Given the description of an element on the screen output the (x, y) to click on. 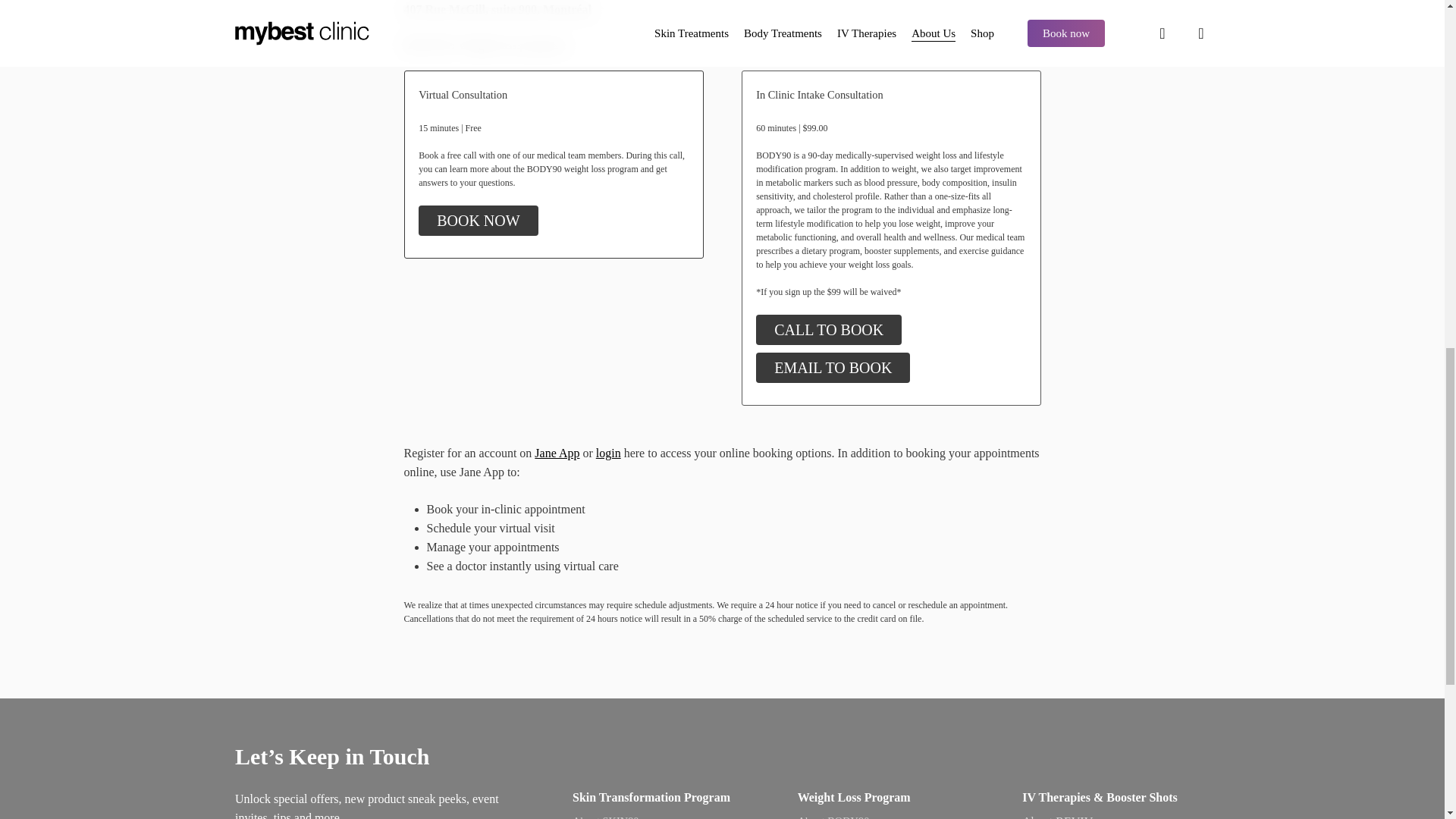
CALL TO BOOK (828, 329)
BOOK NOW (478, 220)
